Given the description of an element on the screen output the (x, y) to click on. 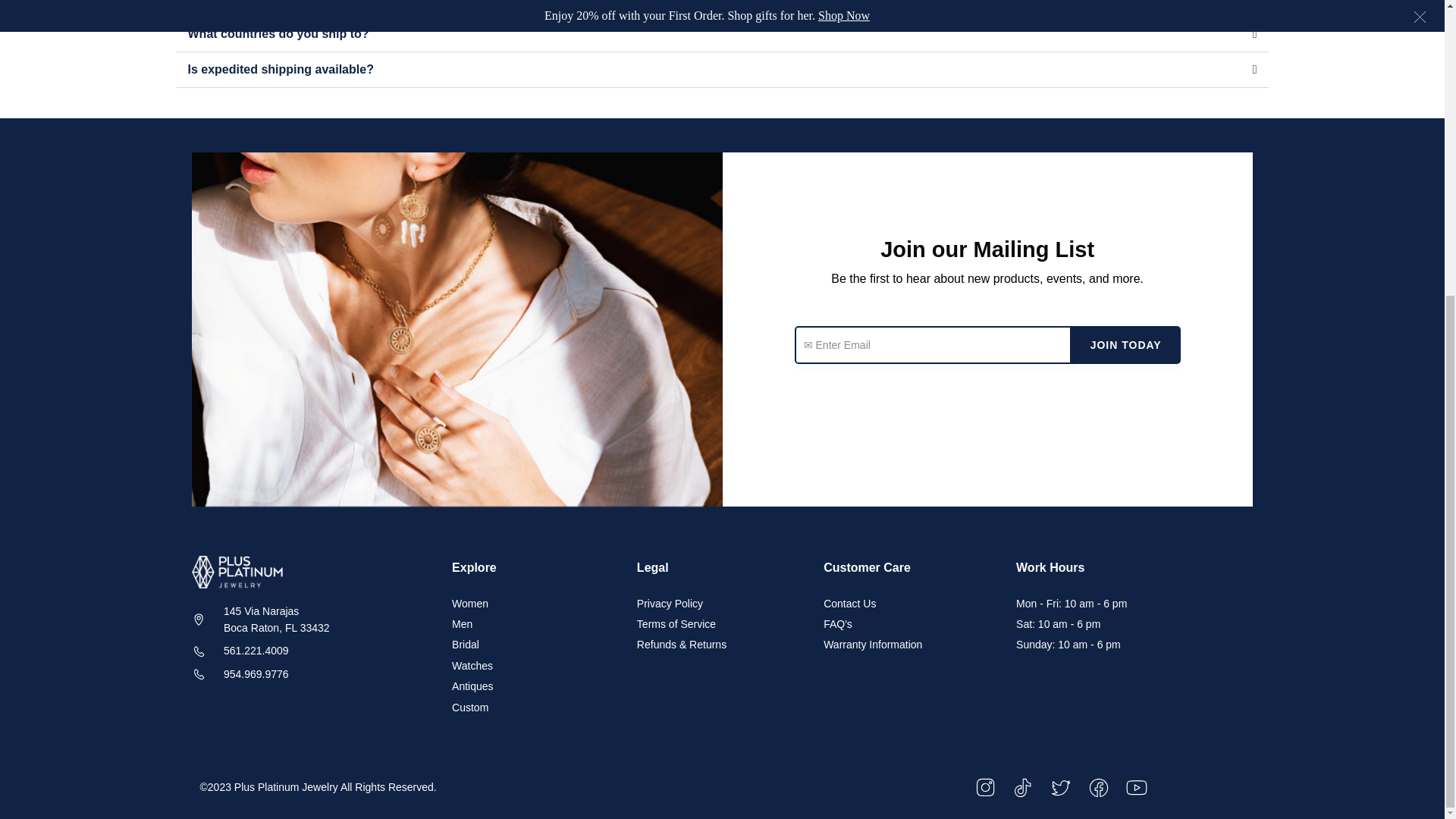
Antiques (536, 686)
Men (536, 623)
Watches (536, 665)
Join Today (1125, 344)
Women (536, 603)
954.969.9776 (313, 673)
Bridal (536, 644)
Is Plus Platinum Jewelry an authorized Rolex watch dealer? (359, 2)
Is expedited shipping available? (280, 69)
561.221.4009 (313, 619)
Custom (313, 650)
What countries do you ship to? (536, 707)
Join Today (278, 33)
